Given the description of an element on the screen output the (x, y) to click on. 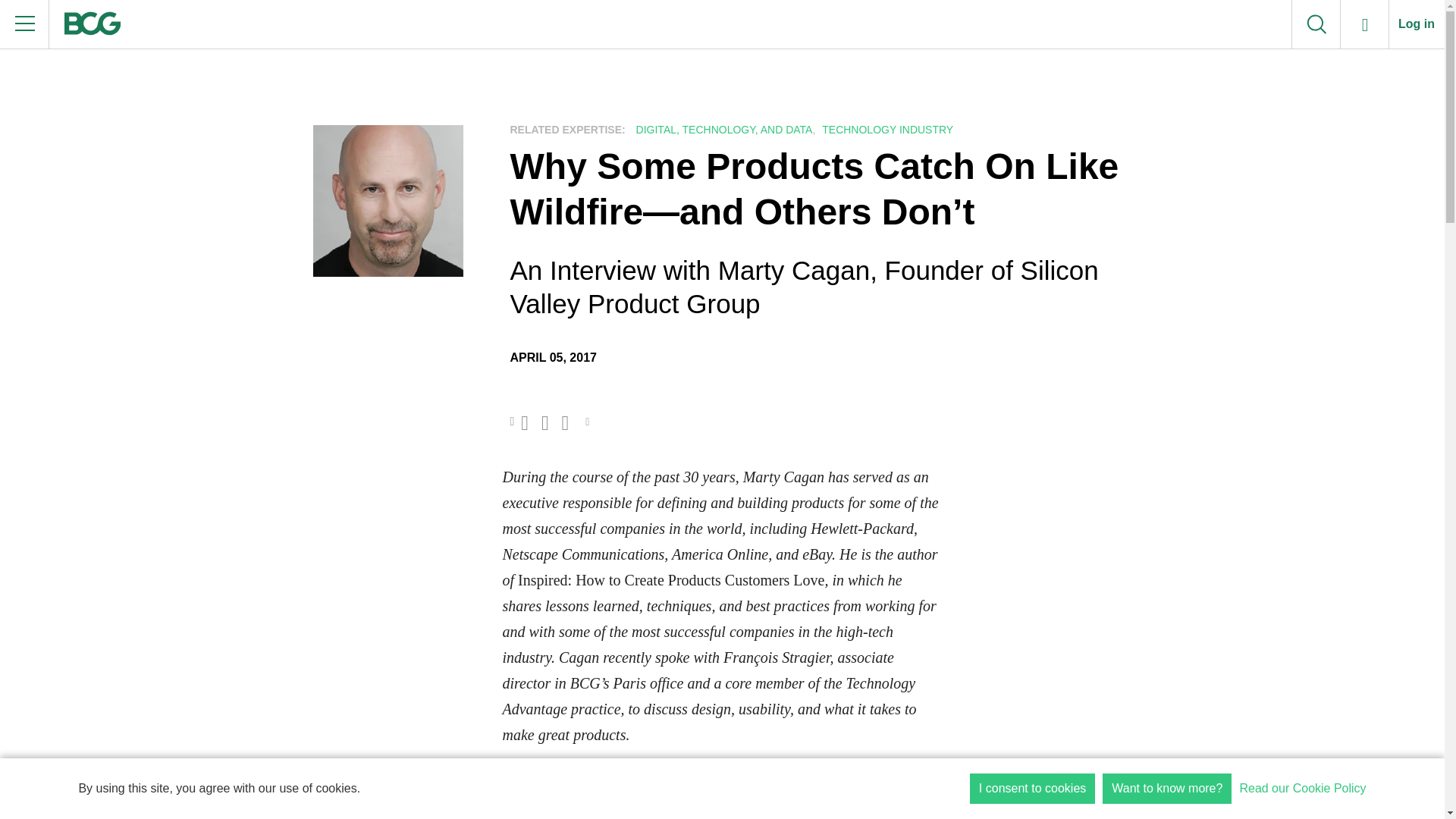
TECHNOLOGY INDUSTRY (885, 129)
DIGITAL, TECHNOLOGY, AND DATA (721, 129)
Log in (1416, 24)
